Given the description of an element on the screen output the (x, y) to click on. 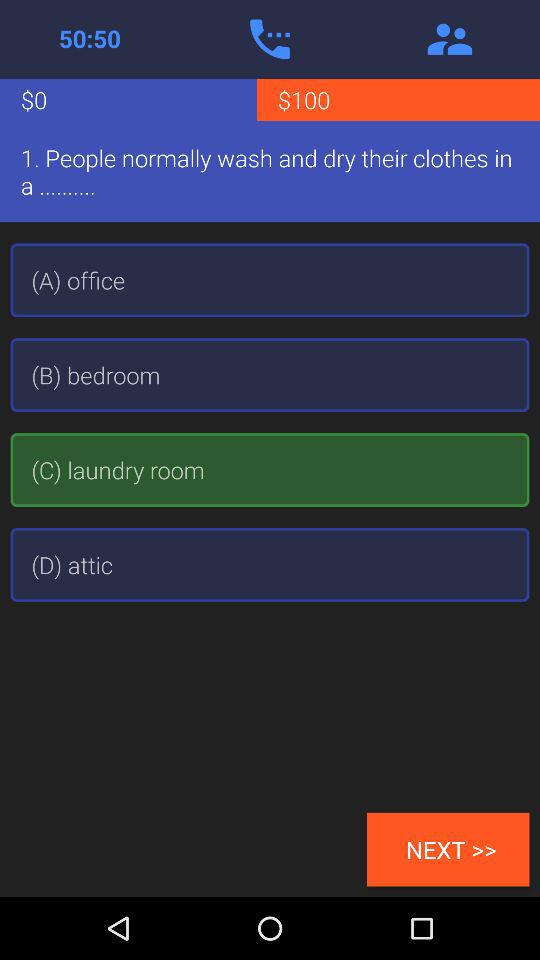
make practice phone call (270, 39)
